Given the description of an element on the screen output the (x, y) to click on. 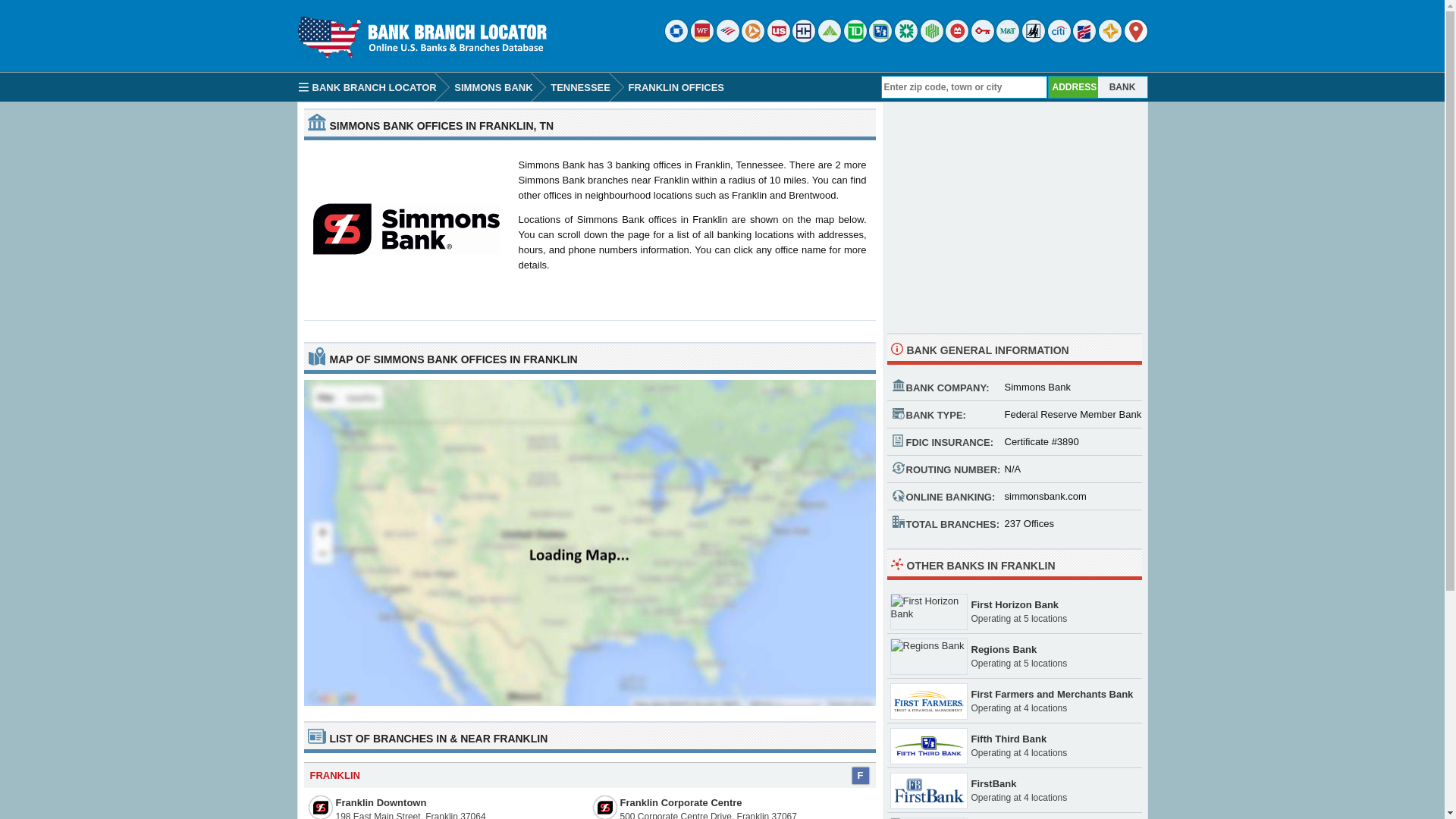
Regions Bank (1003, 649)
Citizens Bank (906, 39)
U.S. Bank (778, 39)
Fifth Third Bank (1008, 738)
Flagstar Bank (1110, 39)
Chase Bank (676, 39)
First Horizon Bank (1014, 604)
Wells Fargo Bank (701, 39)
First Citizens Bank (1084, 39)
Citibank (1059, 39)
